Given the description of an element on the screen output the (x, y) to click on. 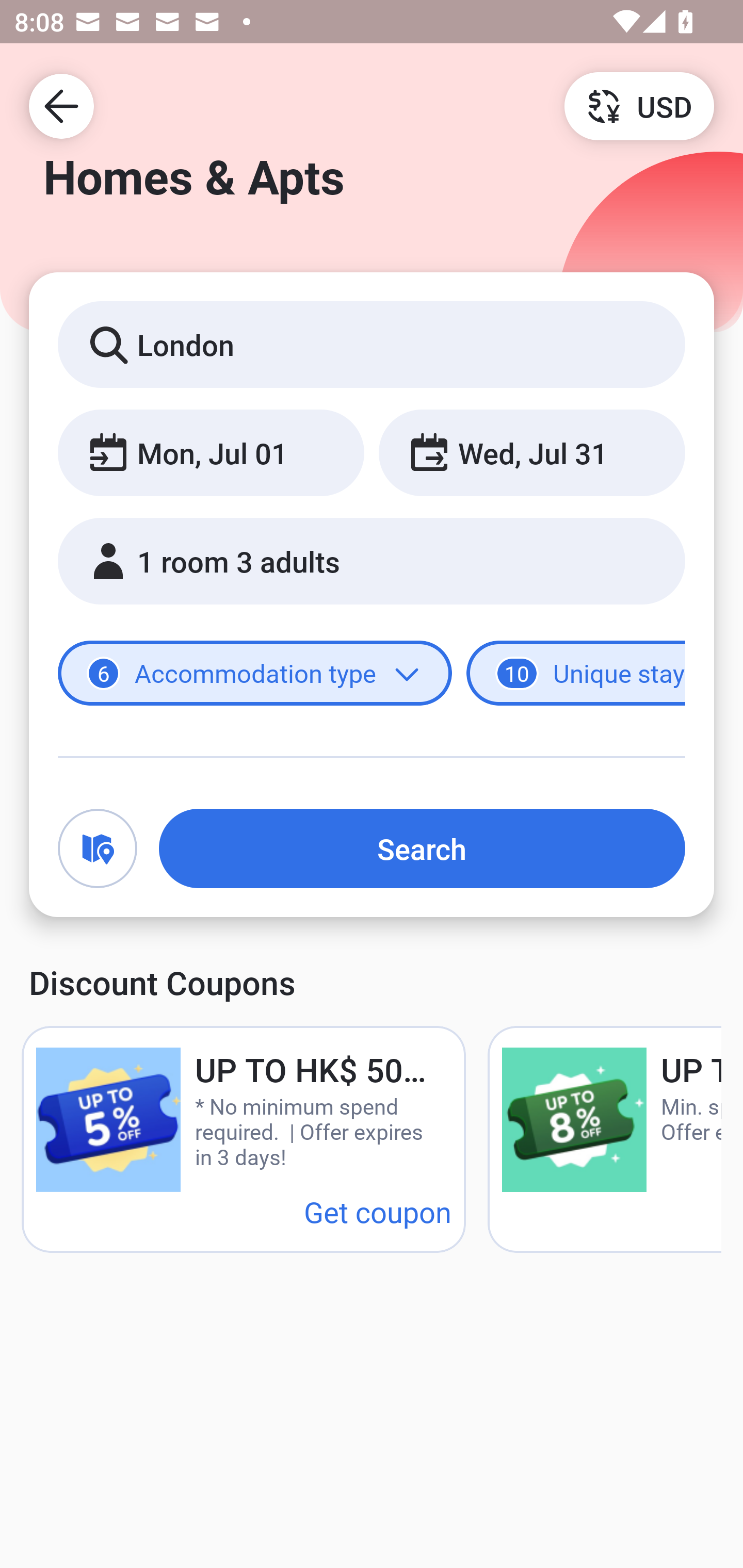
USD (639, 105)
London (371, 344)
Mon, Jul 01 (210, 452)
Wed, Jul 31 (531, 452)
1 room 3 adults (371, 561)
6 Accommodation type (254, 673)
10 Unique stays (575, 673)
Search (422, 848)
Get coupon (377, 1211)
